Given the description of an element on the screen output the (x, y) to click on. 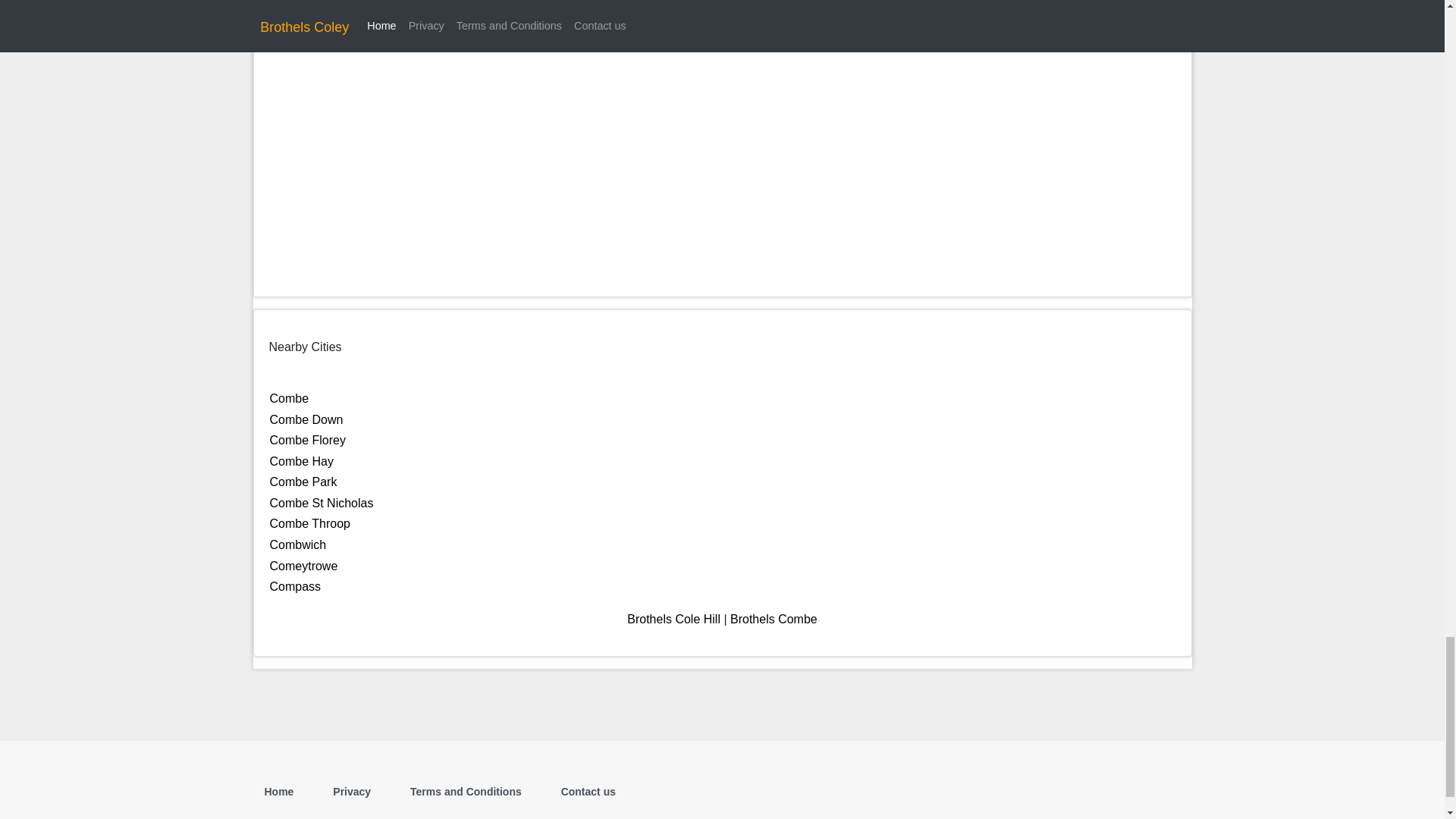
Compass (295, 585)
Brothels Combe (773, 618)
Comeytrowe (303, 565)
Combe (288, 398)
Combe Throop (309, 522)
Combwich (297, 544)
Combe St Nicholas (321, 502)
Combe Park (303, 481)
Combe Down (306, 418)
Combe Hay (301, 461)
Combe Florey (307, 440)
Brothels Cole Hill (673, 618)
